Given the description of an element on the screen output the (x, y) to click on. 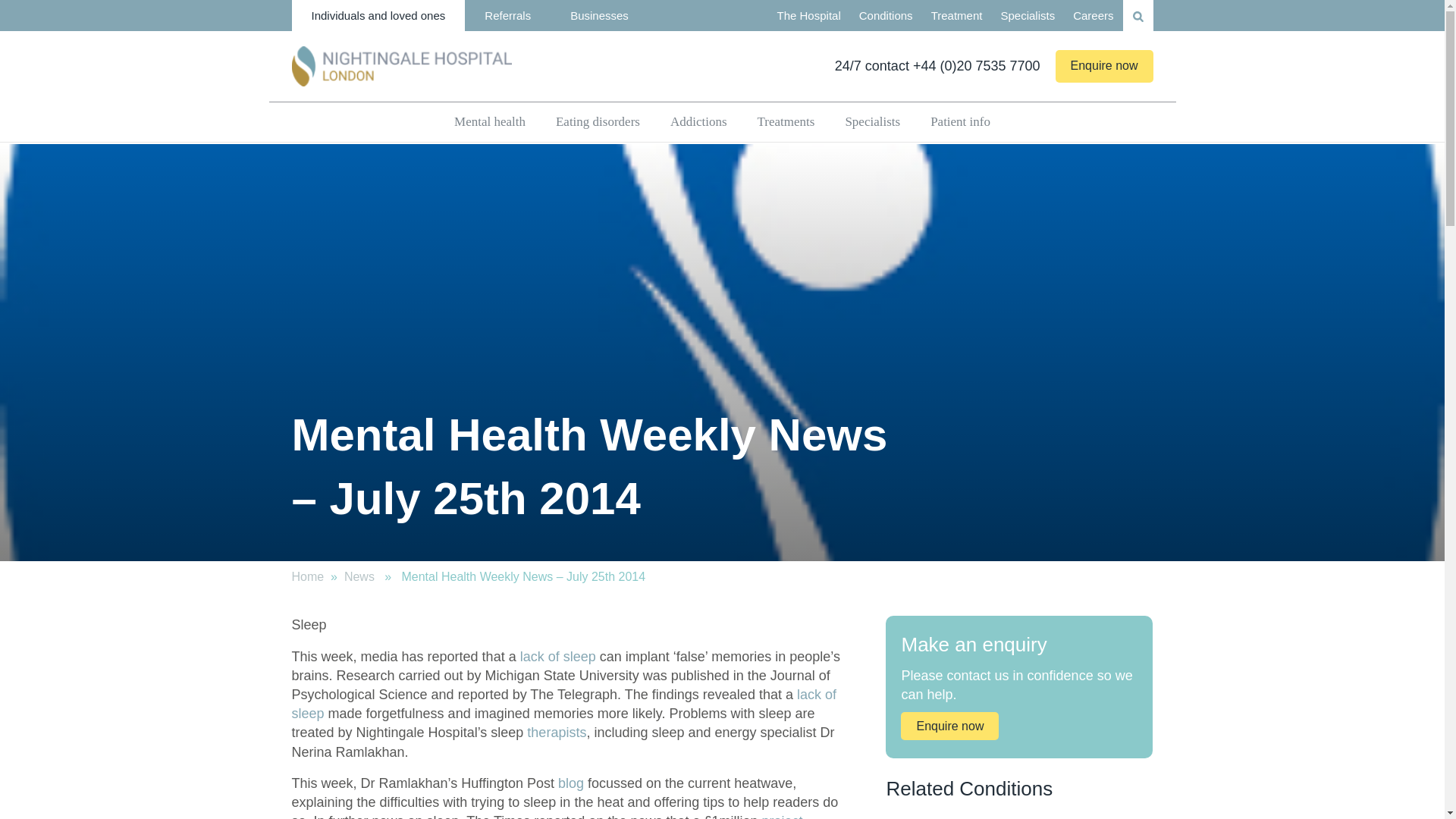
The Hospital (809, 15)
Mental health (489, 121)
Treatment (956, 15)
Referrals (507, 15)
Specialists (1027, 15)
Enquire now (1104, 65)
Individuals and loved ones (377, 15)
blog (358, 576)
Conditions (885, 15)
Businesses (598, 15)
